Given the description of an element on the screen output the (x, y) to click on. 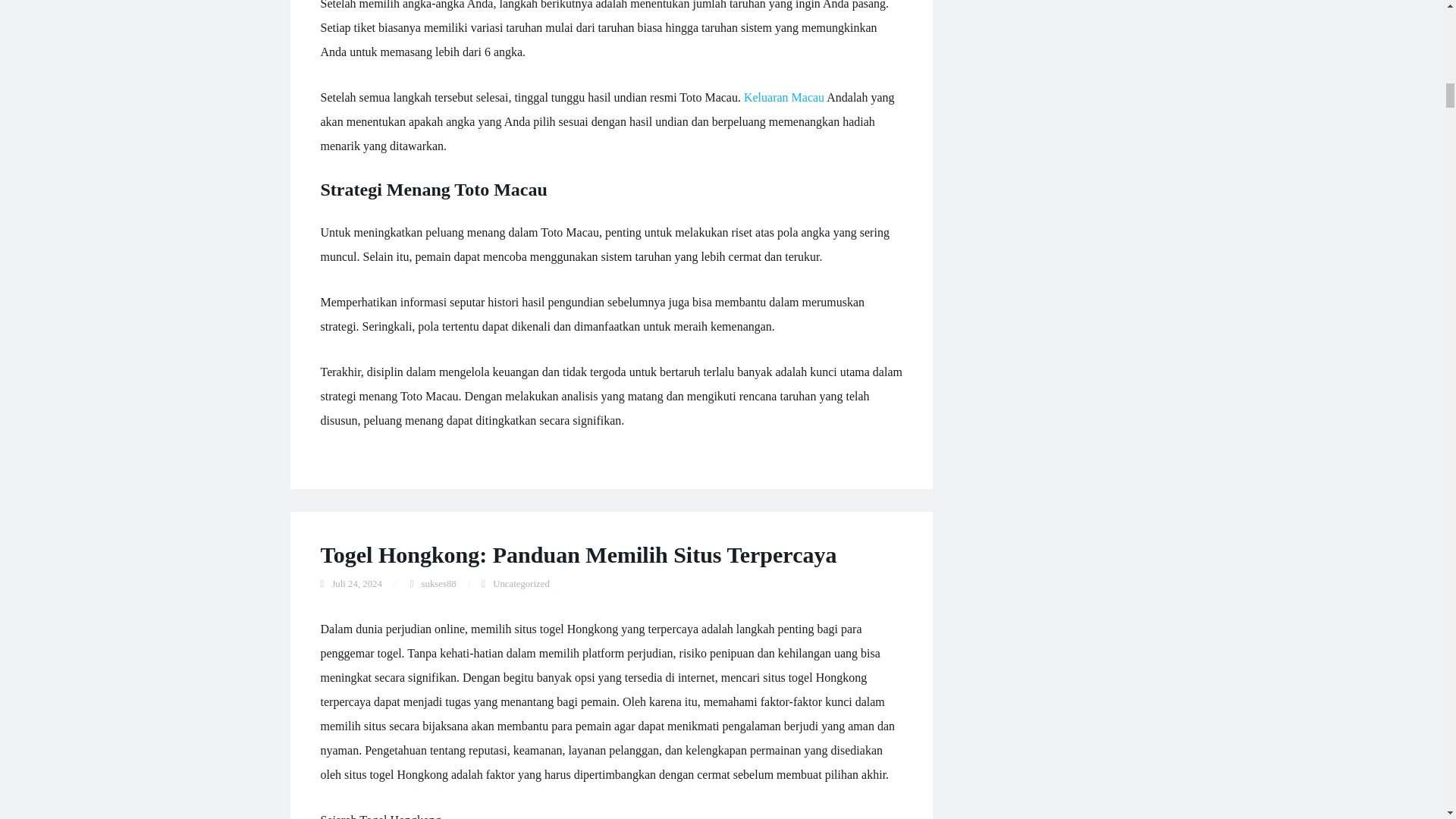
Uncategorized (521, 583)
Juli 24, 2024 (356, 583)
Togel Hongkong: Panduan Memilih Situs Terpercaya (577, 554)
sukses88 (439, 583)
Keluaran Macau (784, 97)
